Given the description of an element on the screen output the (x, y) to click on. 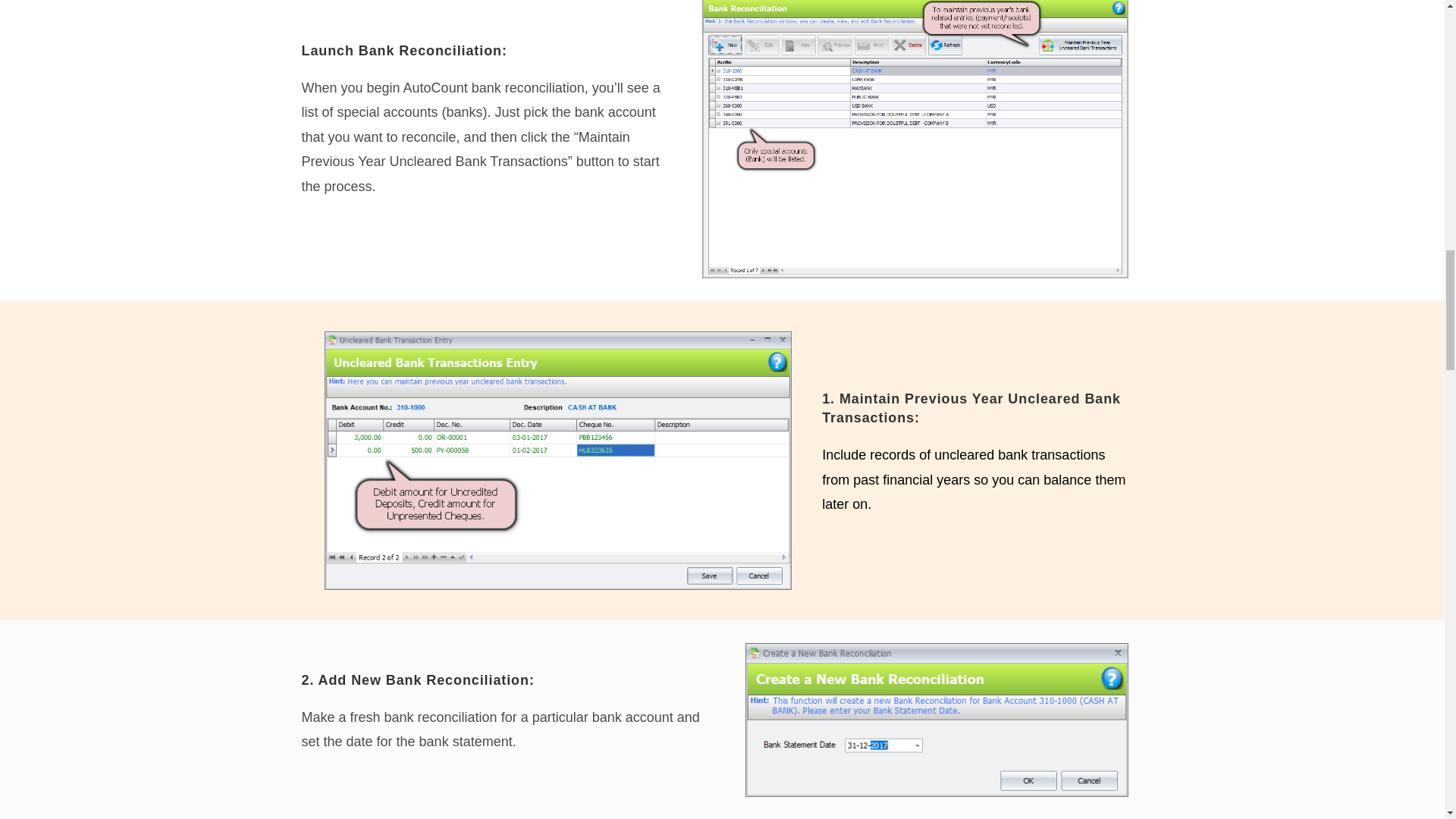
BR4 (935, 719)
BR1 (914, 139)
